Given the description of an element on the screen output the (x, y) to click on. 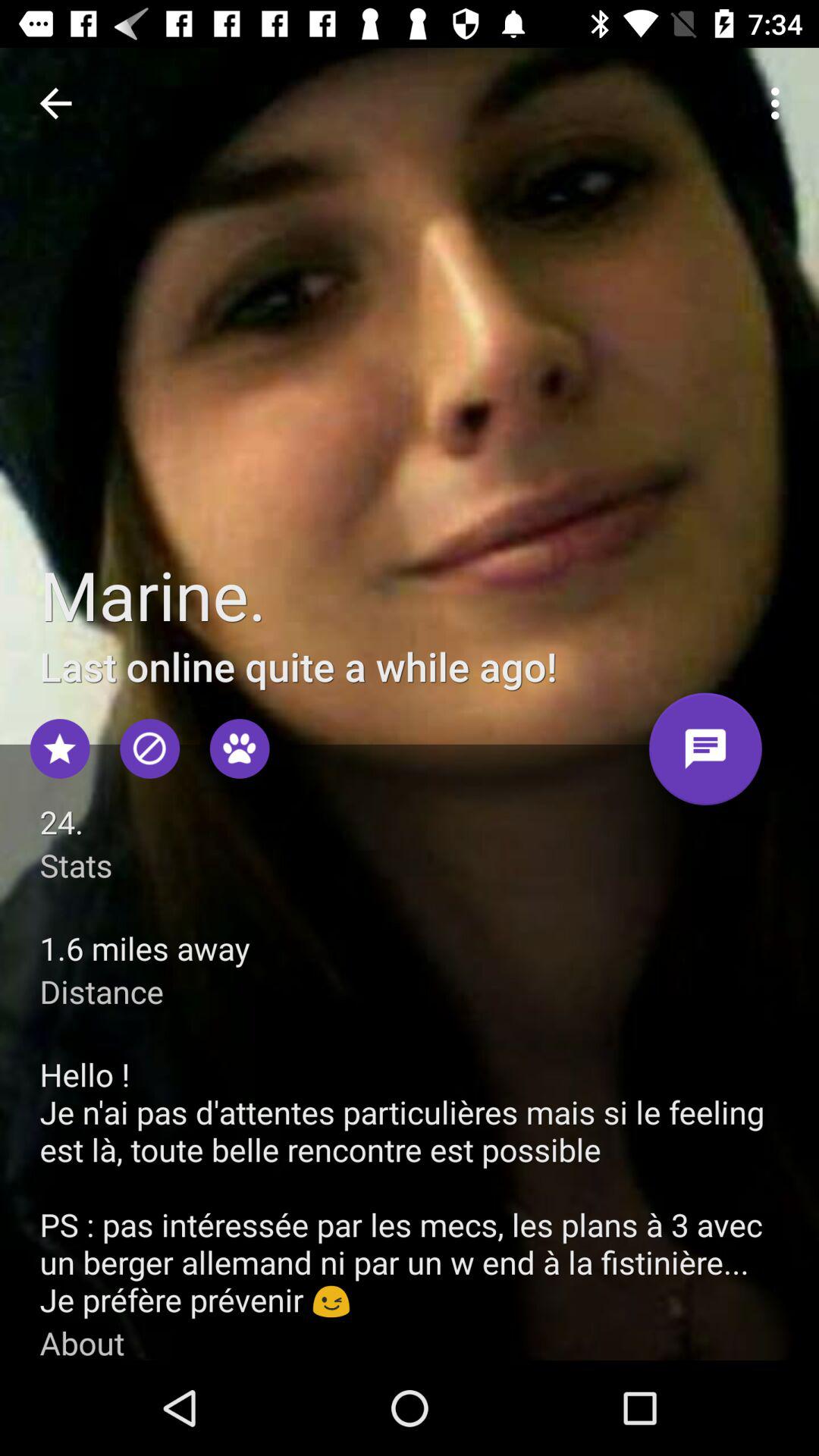
message marine (705, 754)
